Given the description of an element on the screen output the (x, y) to click on. 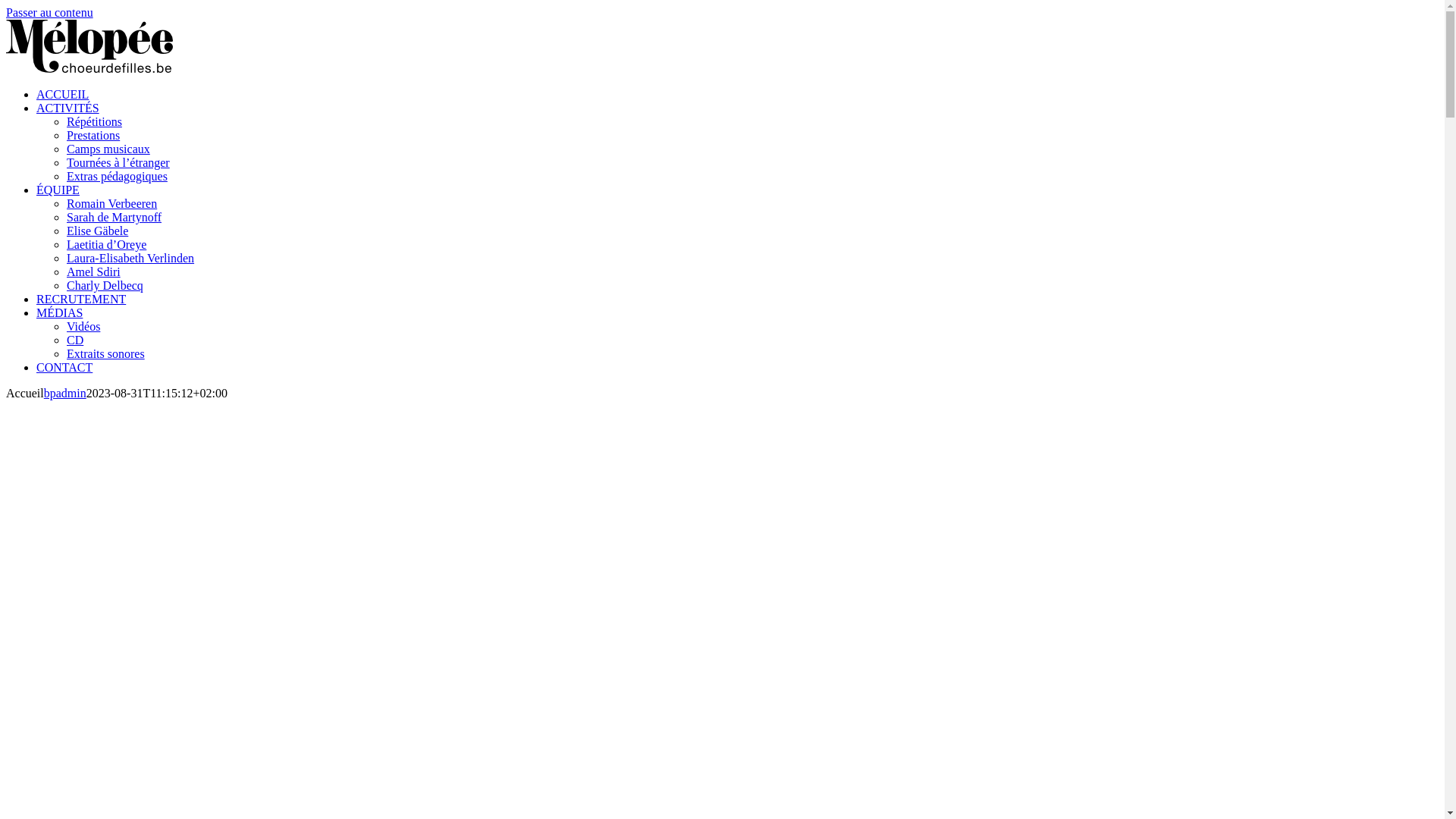
Amel Sdiri Element type: text (93, 271)
RECRUTEMENT Element type: text (80, 298)
Prestations Element type: text (92, 134)
Laura-Elisabeth Verlinden Element type: text (130, 257)
Passer au contenu Element type: text (49, 12)
Romain Verbeeren Element type: text (111, 203)
ACCUEIL Element type: text (62, 93)
Extraits sonores Element type: text (105, 353)
Charly Delbecq Element type: text (104, 285)
Camps musicaux Element type: text (108, 148)
Sarah de Martynoff Element type: text (113, 216)
CONTACT Element type: text (64, 366)
CD Element type: text (74, 339)
bpadmin Element type: text (64, 392)
